Given the description of an element on the screen output the (x, y) to click on. 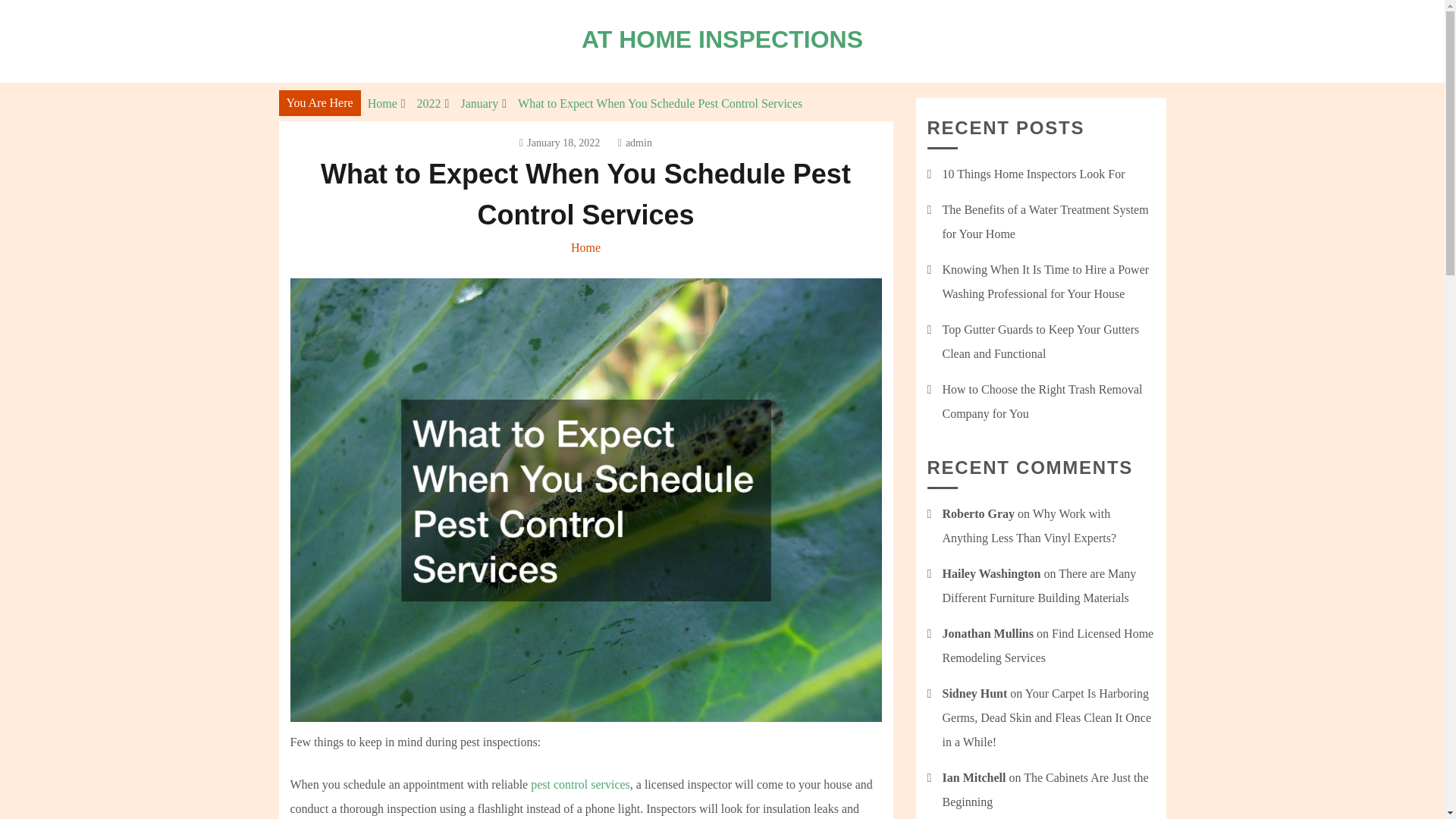
January 18, 2022 (559, 142)
How to Choose the Right Trash Removal Company for You (1041, 401)
The Cabinets Are Just the Beginning (1045, 789)
Home (584, 246)
There are Many Different Furniture Building Materials (1038, 585)
2022 (428, 103)
January (478, 103)
Roberto Gray (978, 513)
pest control services (580, 784)
admin (634, 142)
Home (382, 103)
AT HOME INSPECTIONS (721, 39)
Why Work with Anything Less Than Vinyl Experts? (1029, 525)
Ian Mitchell (974, 777)
